Given the description of an element on the screen output the (x, y) to click on. 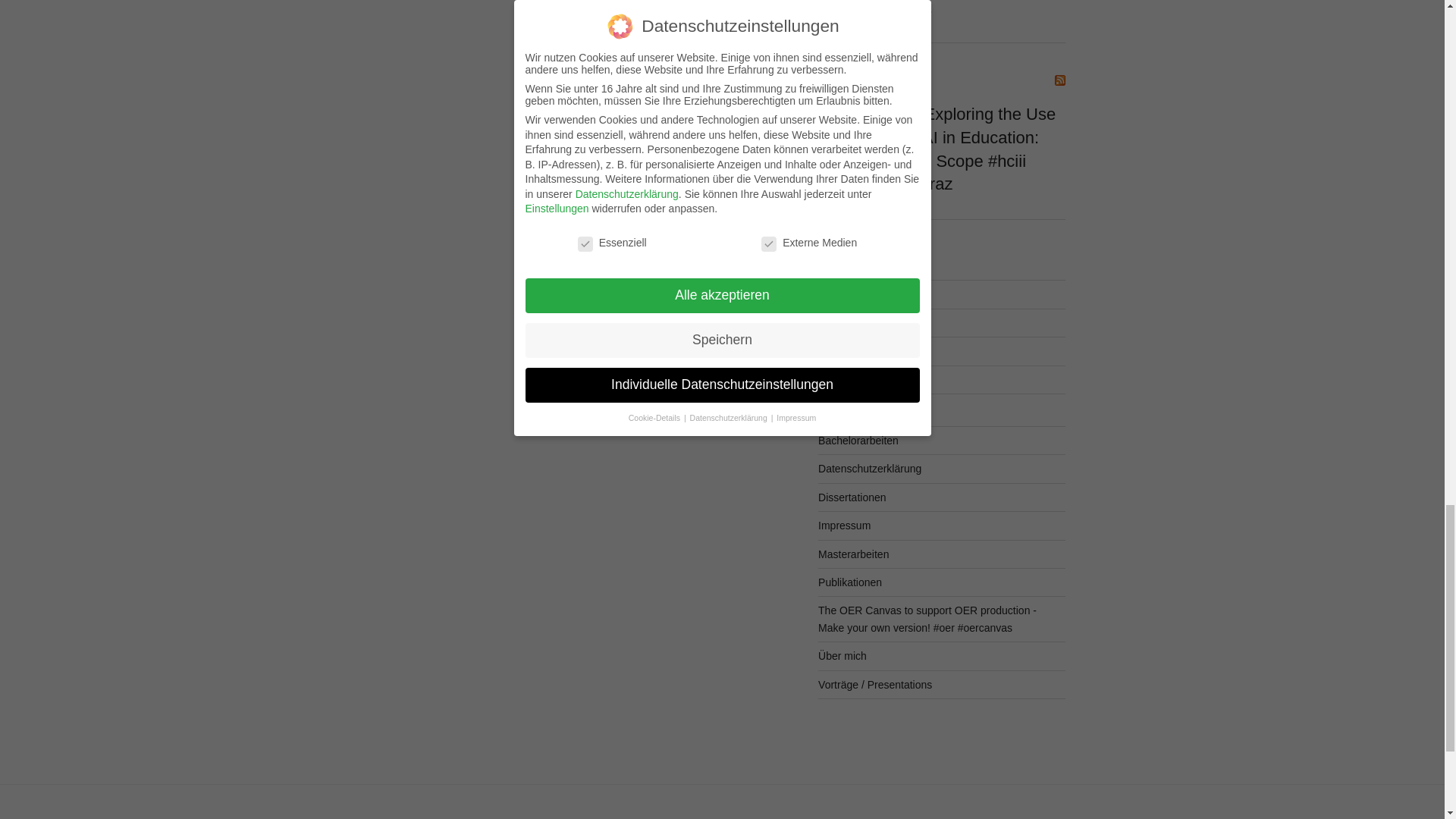
RSS FEED (845, 80)
Kommentare-Feed (862, 350)
WordPress.org (853, 379)
Bachelorarbeiten (858, 440)
Anmelden (842, 294)
